Given the description of an element on the screen output the (x, y) to click on. 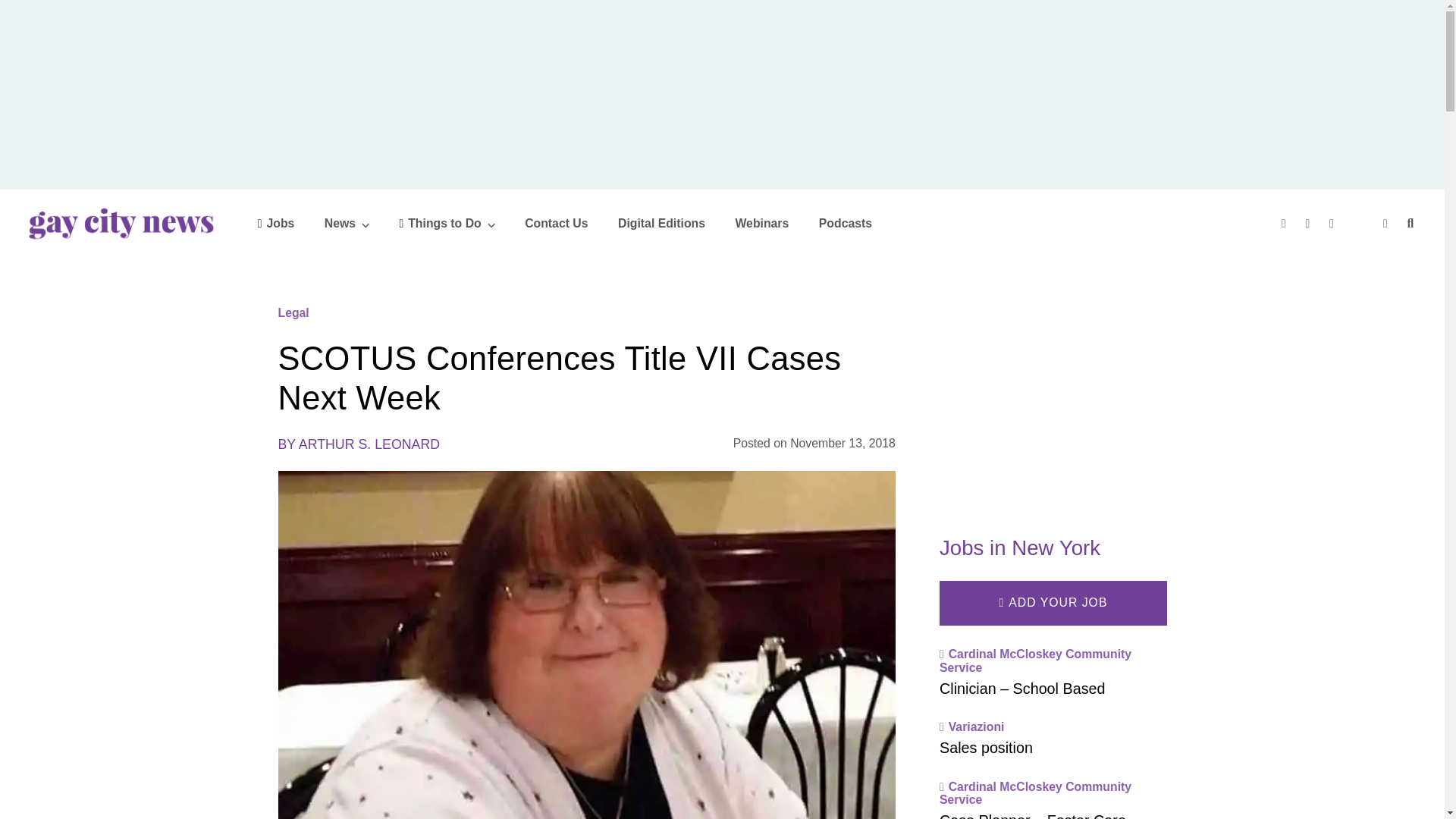
Digital Editions (660, 223)
Contact Us (556, 223)
Jobs (276, 223)
Things to Do (446, 223)
Webinars (762, 223)
Podcasts (845, 223)
News (346, 223)
